Given the description of an element on the screen output the (x, y) to click on. 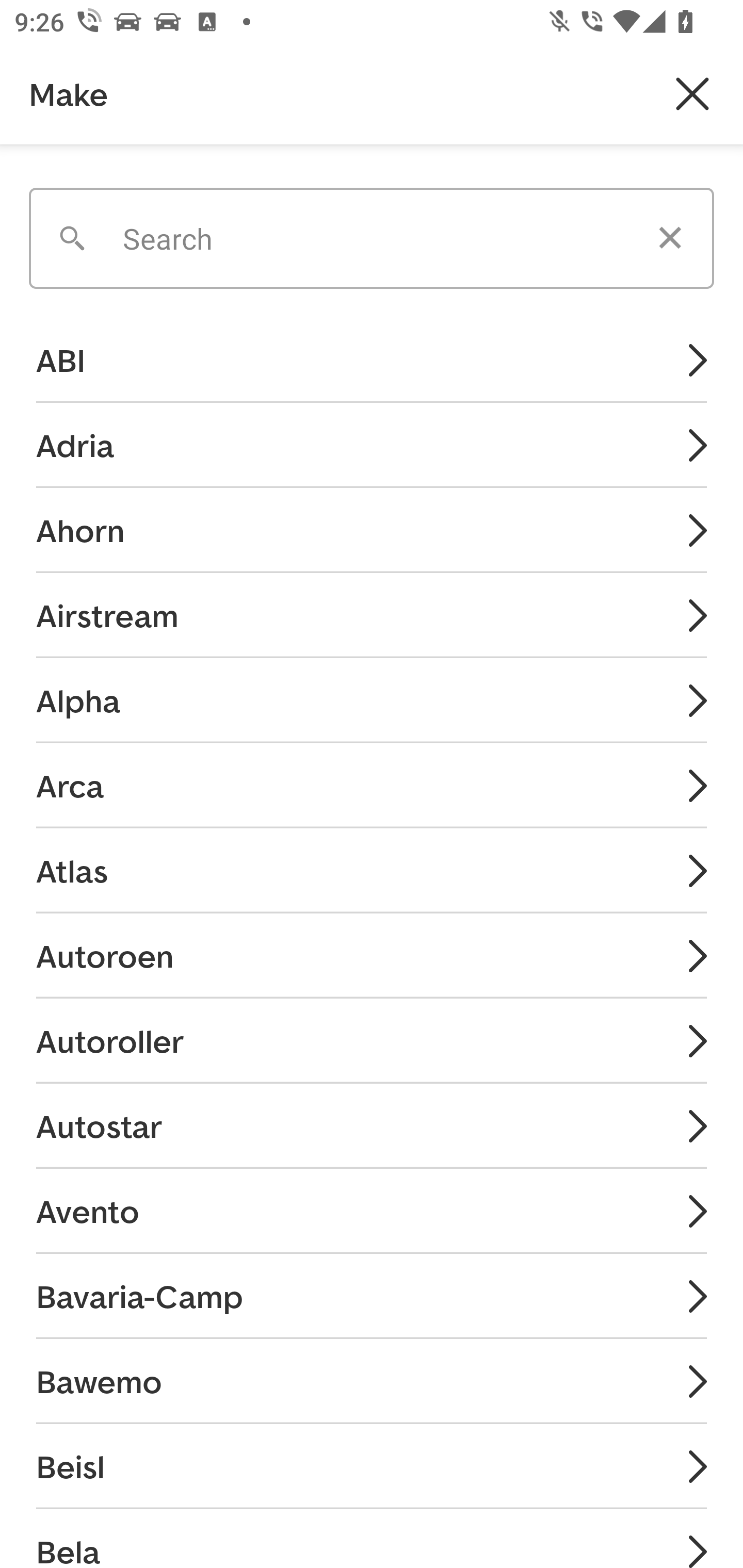
close (692, 93)
search icon clear icon Search (371, 231)
clear icon (670, 238)
ABI right arrow (371, 360)
Adria right arrow (371, 444)
Ahorn right arrow (371, 529)
Airstream right arrow (371, 614)
Alpha right arrow (371, 699)
Arca right arrow (371, 785)
Atlas right arrow (371, 869)
Autoroen right arrow (371, 955)
Autoroller right arrow (371, 1040)
Autostar right arrow (371, 1125)
Avento right arrow (371, 1210)
Bavaria-Camp right arrow (371, 1295)
Bawemo right arrow (371, 1381)
Beisl right arrow (371, 1465)
Bela right arrow (371, 1538)
